Given the description of an element on the screen output the (x, y) to click on. 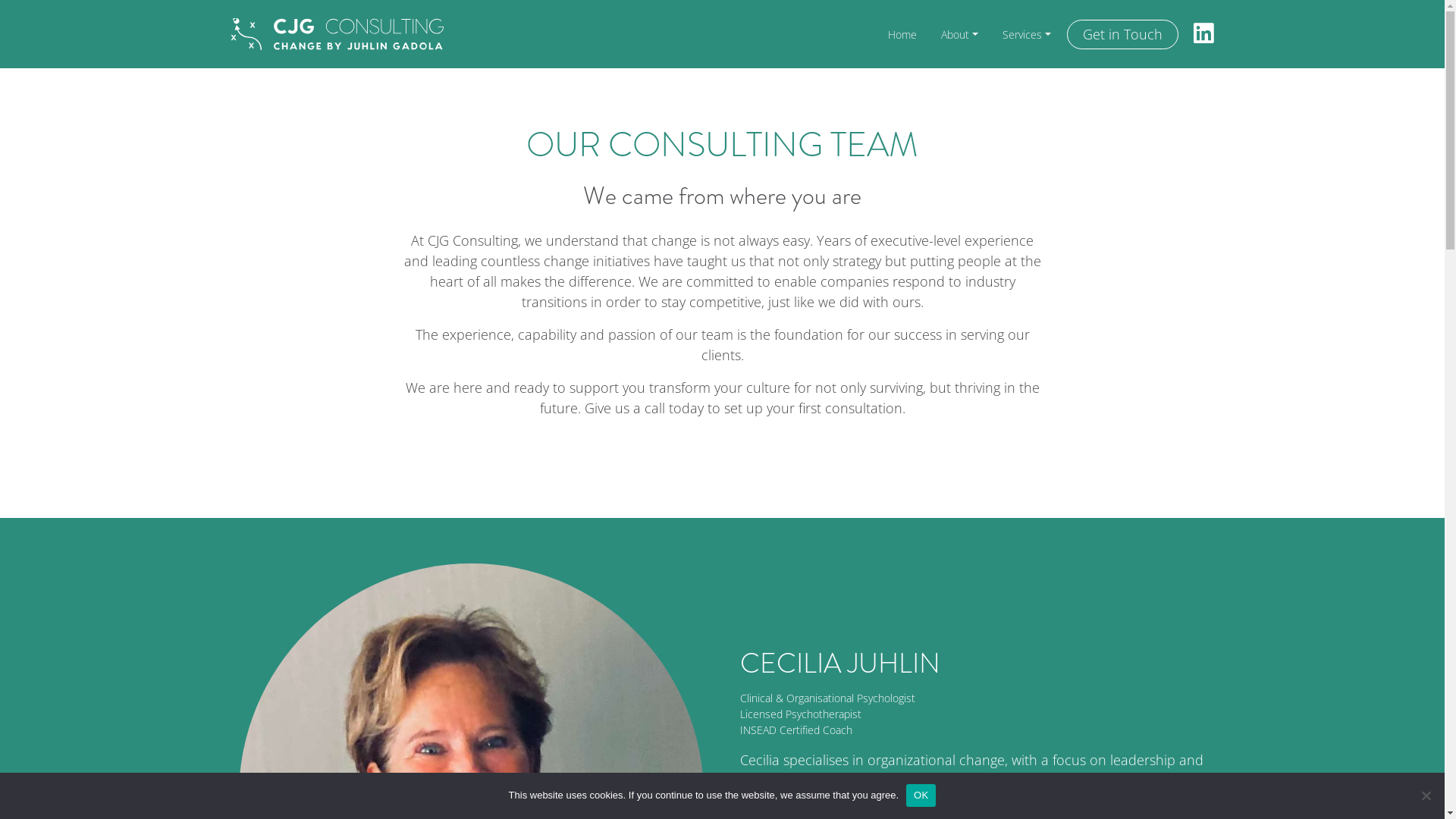
About Element type: text (959, 34)
Get in Touch Element type: text (1121, 34)
Nein Element type: hover (1425, 795)
OK Element type: text (920, 795)
Services Element type: text (1026, 34)
Home Element type: text (901, 34)
